Given the description of an element on the screen output the (x, y) to click on. 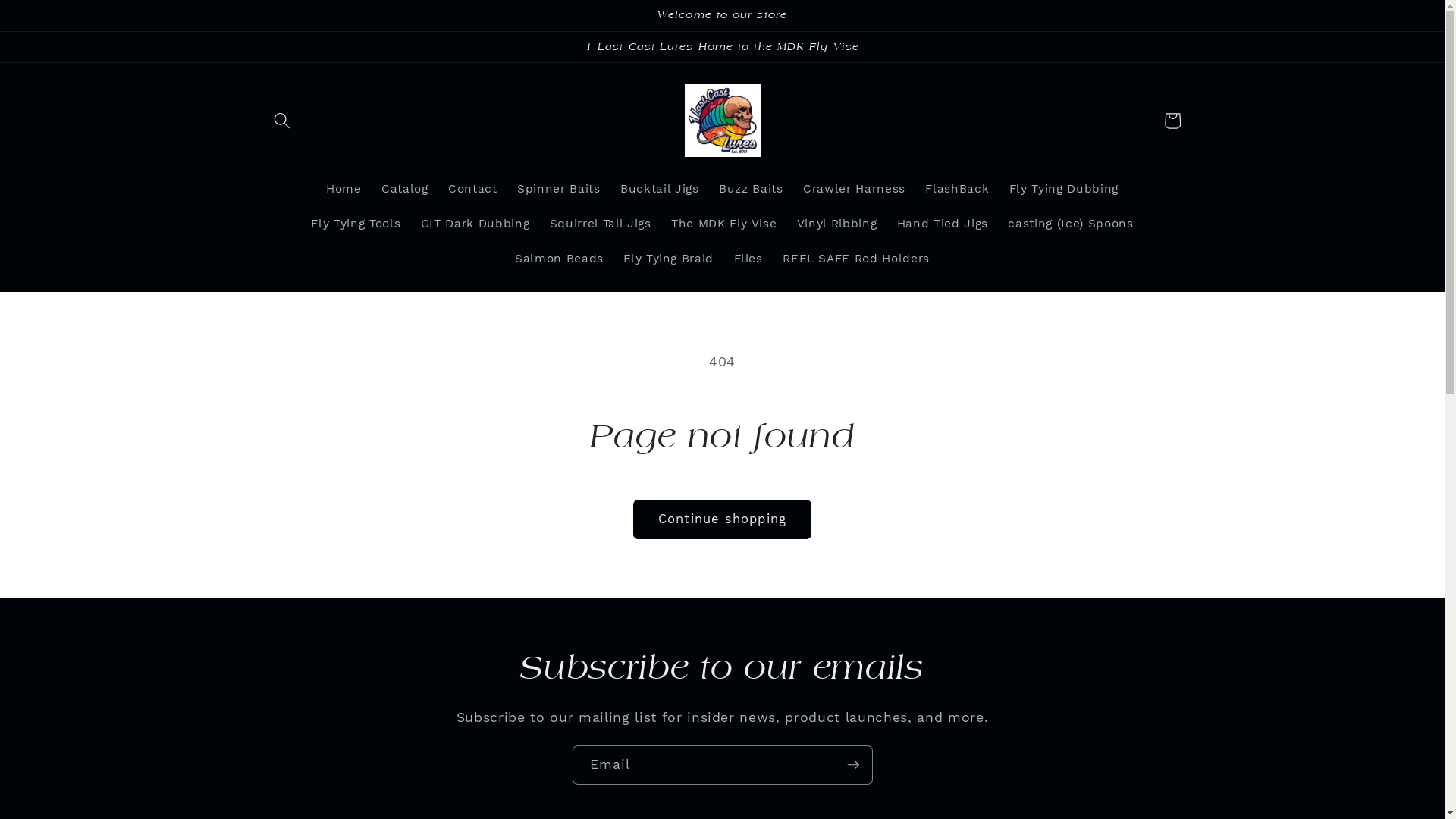
Catalog Element type: text (404, 189)
Crawler Harness Element type: text (854, 189)
REEL SAFE Rod Holders Element type: text (855, 258)
Spinner Baits Element type: text (558, 189)
GIT Dark Dubbing Element type: text (474, 224)
Home Element type: text (343, 189)
Hand Tied Jigs Element type: text (942, 224)
Bucktail Jigs Element type: text (659, 189)
Vinyl Ribbing Element type: text (837, 224)
Salmon Beads Element type: text (559, 258)
Squirrel Tail Jigs Element type: text (599, 224)
The MDK Fly Vise Element type: text (724, 224)
Buzz Baits Element type: text (751, 189)
Fly Tying Braid Element type: text (668, 258)
Cart Element type: text (1172, 120)
casting (Ice) Spoons Element type: text (1070, 224)
Fly Tying Tools Element type: text (355, 224)
FlashBack Element type: text (956, 189)
Fly Tying Dubbing Element type: text (1063, 189)
Continue shopping Element type: text (722, 519)
Flies Element type: text (747, 258)
Contact Element type: text (472, 189)
